Given the description of an element on the screen output the (x, y) to click on. 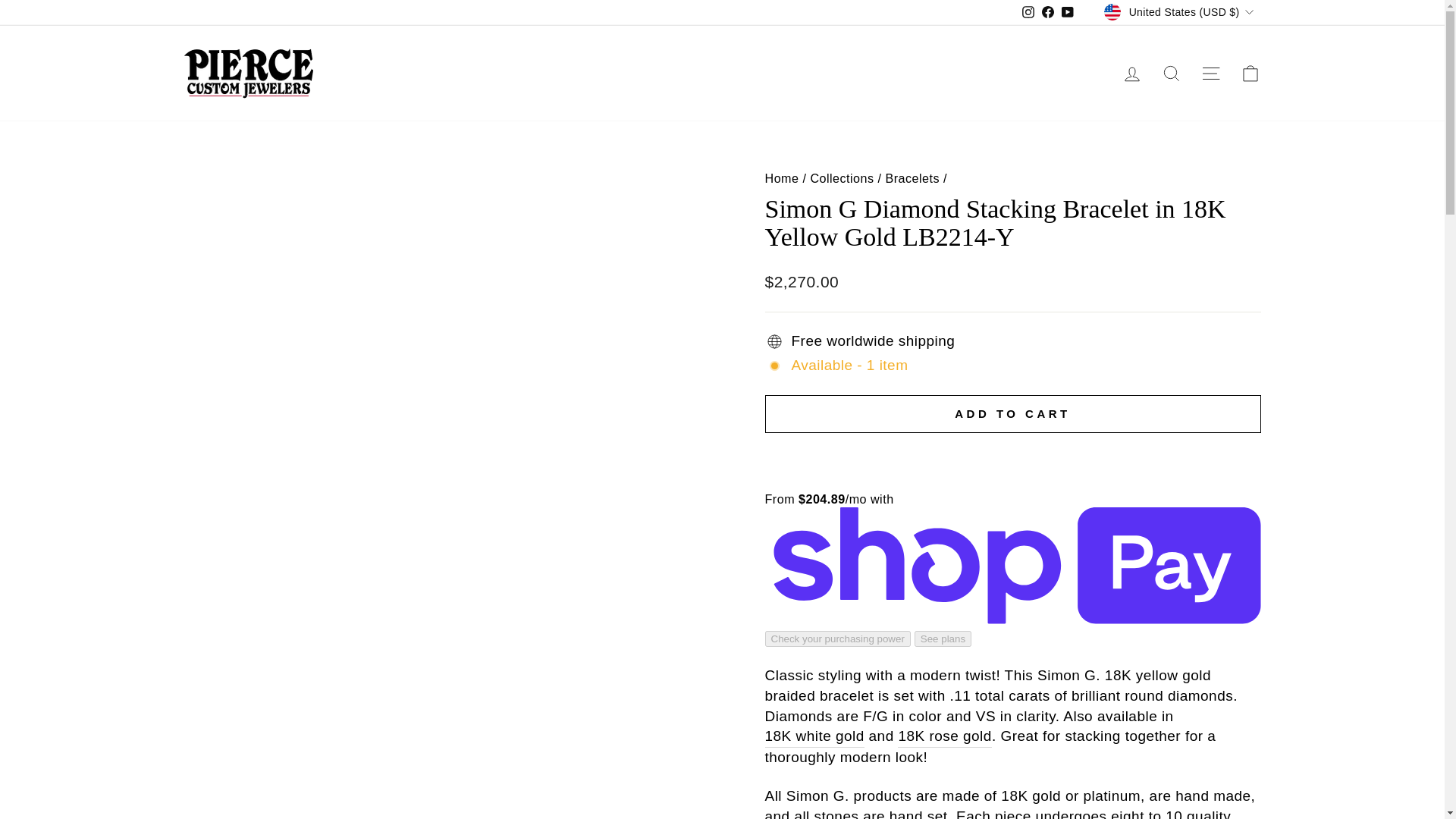
Simon G Diamond Stacking Bracelet in 18K Rose Gold LB2214-R (944, 736)
Back to the frontpage (780, 178)
Simon G Diamond Stacking Bracelet in 18K White Gold LB2214 (813, 736)
